Given the description of an element on the screen output the (x, y) to click on. 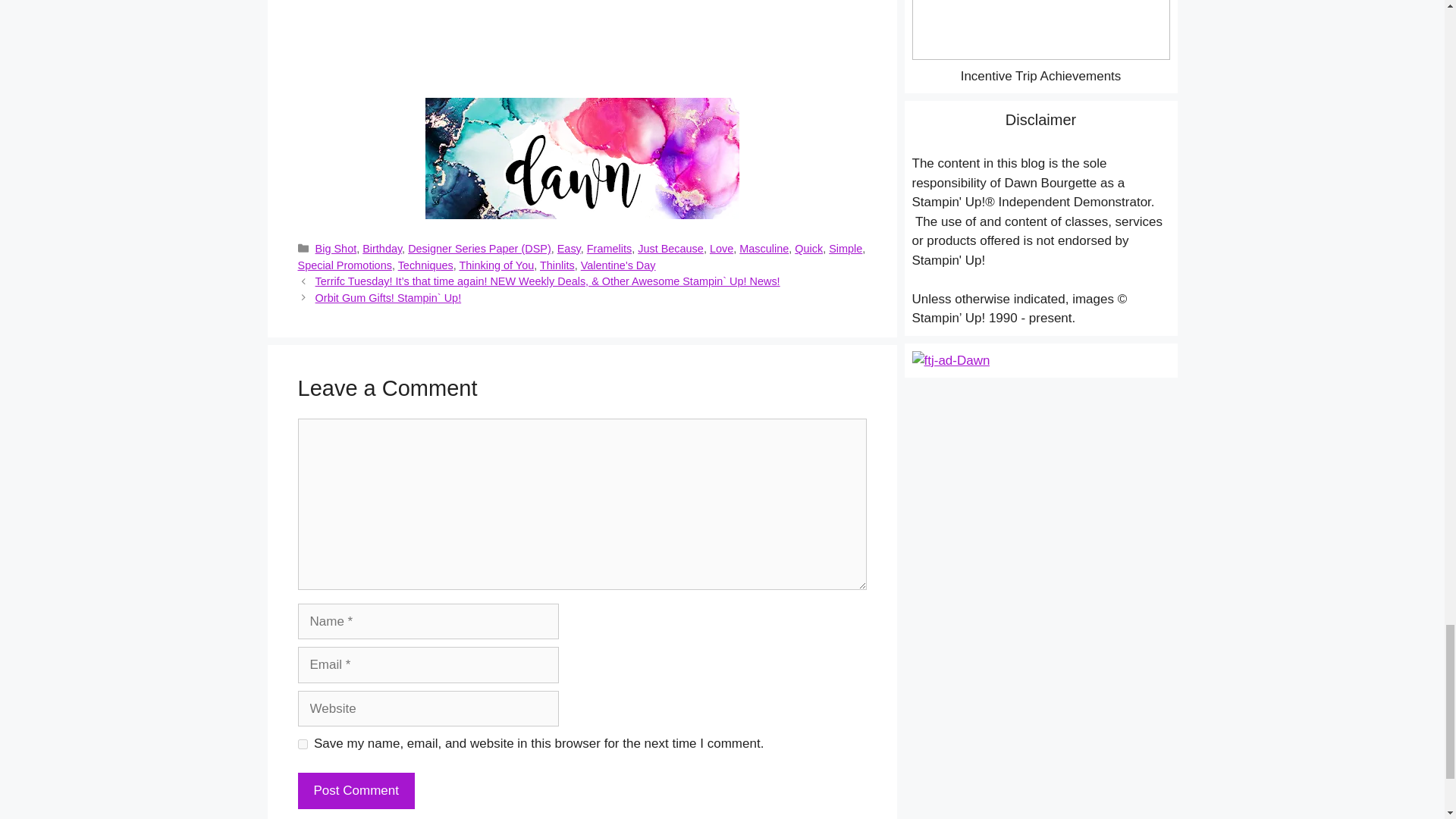
Post Comment (355, 791)
Easy (568, 248)
Birthday (381, 248)
Framelits (608, 248)
yes (302, 744)
Just Because (670, 248)
Big Shot (335, 248)
